Given the description of an element on the screen output the (x, y) to click on. 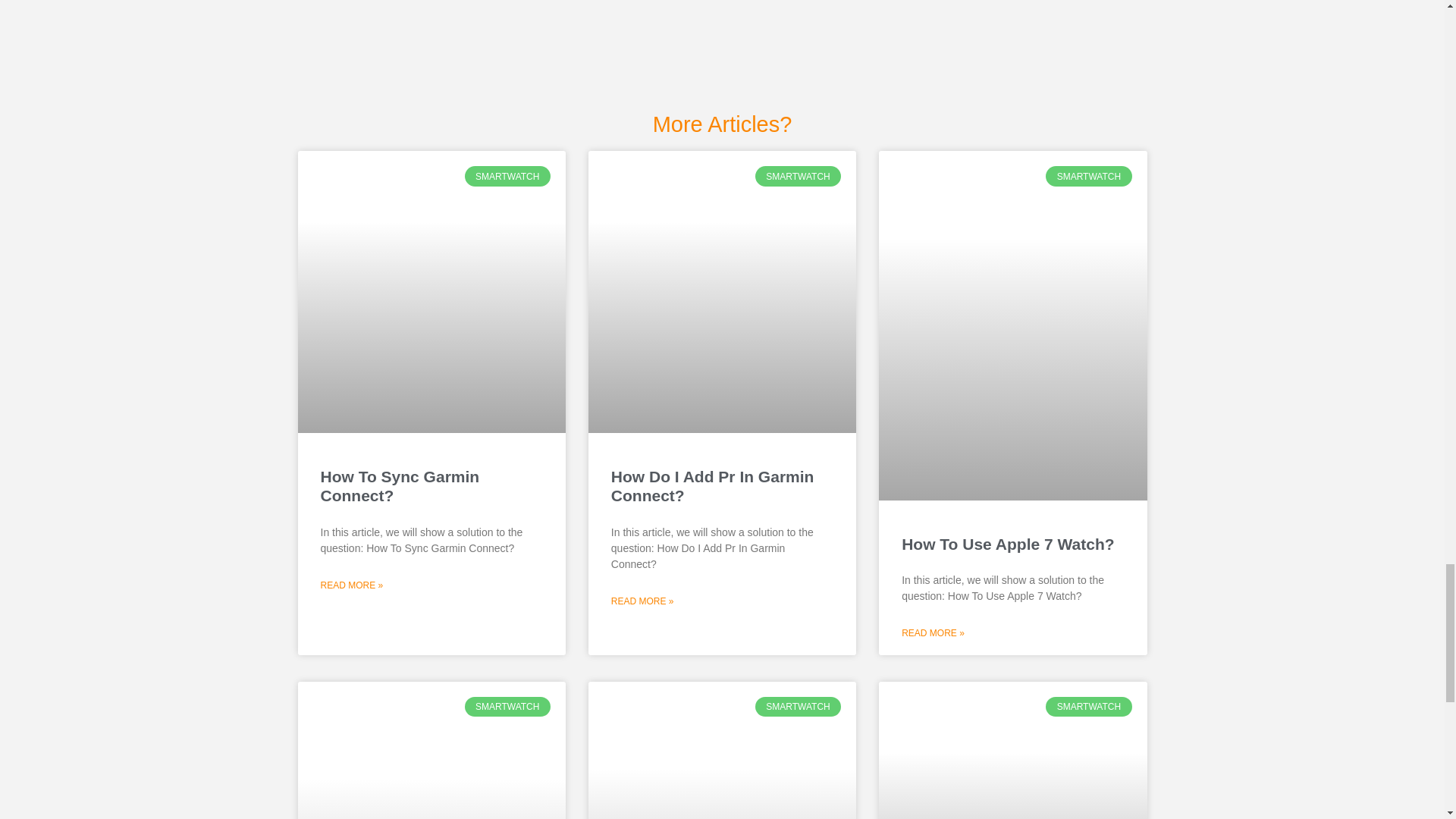
How Do I Add Pr In Garmin Connect? (712, 485)
How To Sync Garmin Connect? (399, 485)
